Given the description of an element on the screen output the (x, y) to click on. 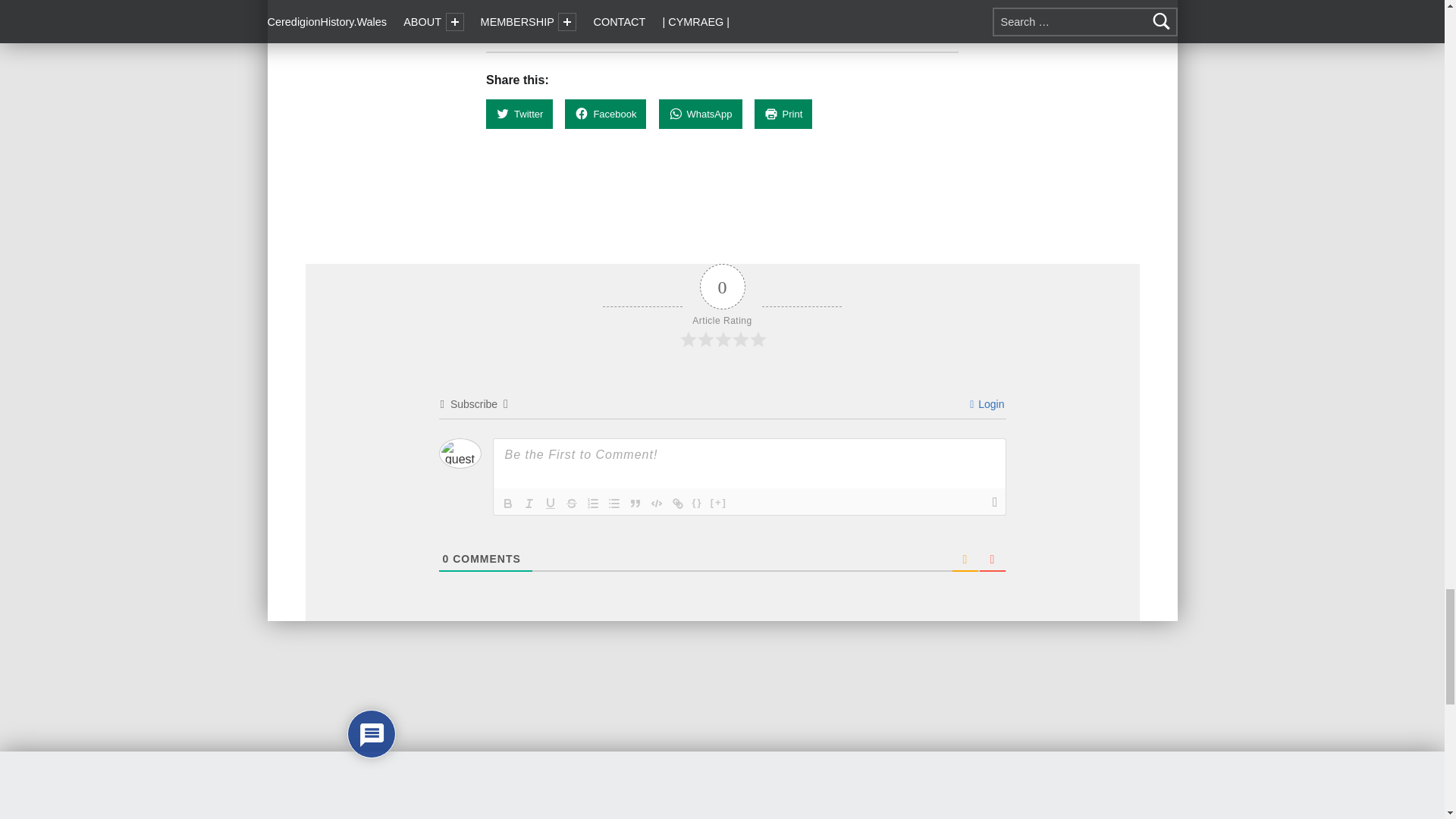
Italic (529, 503)
Click to share on Twitter (519, 113)
Ordered List (593, 503)
Click to share on Facebook (605, 113)
Link (677, 503)
Blockquote (635, 503)
Underline (550, 503)
Code Block (656, 503)
Unordered List (614, 503)
Click to print (783, 113)
